Given the description of an element on the screen output the (x, y) to click on. 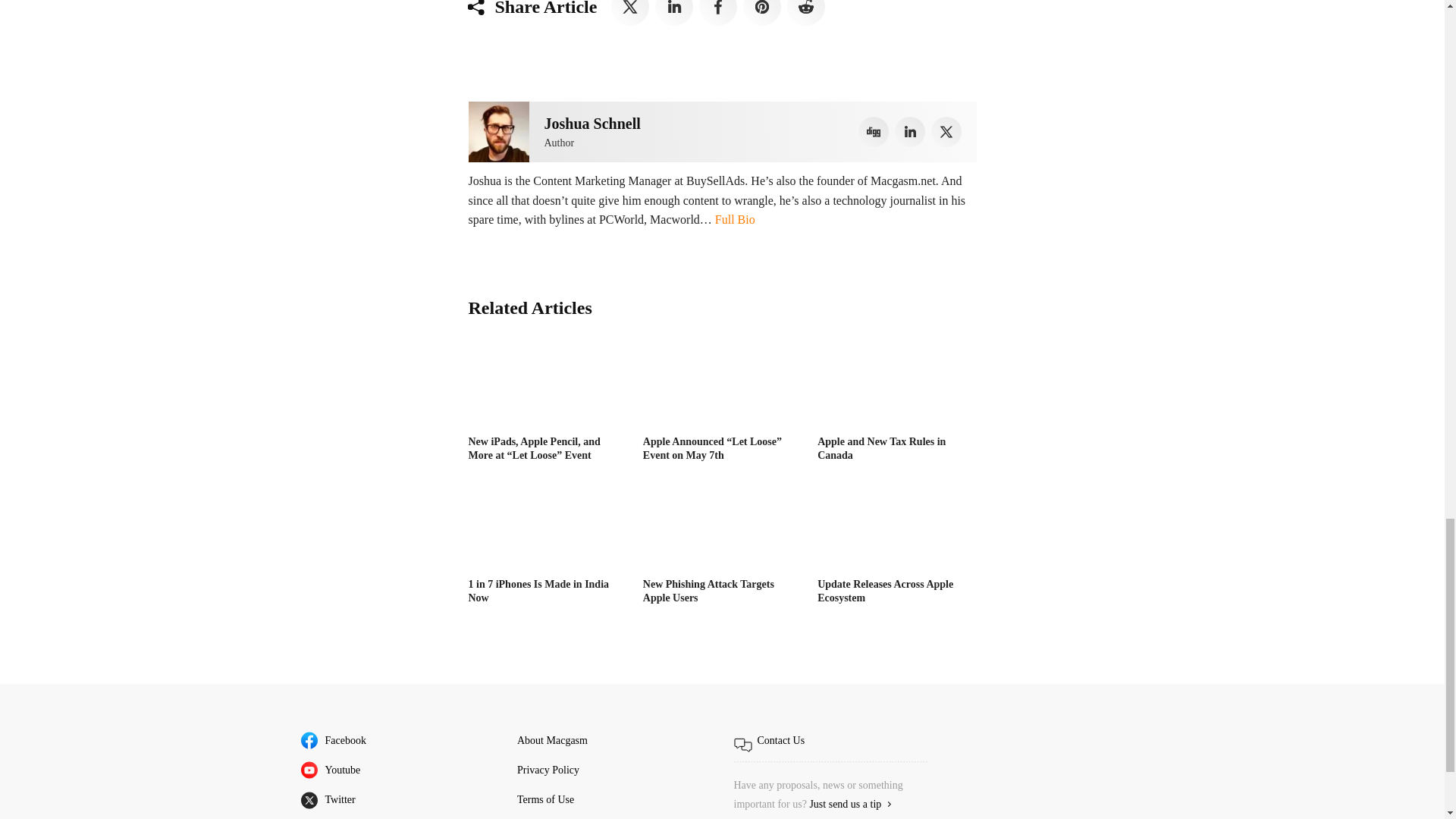
Full Bio (734, 219)
Digg (873, 132)
Twitter (630, 12)
Joshua Schnell (592, 123)
Joshua Schnell (498, 131)
ReddIt (806, 12)
Pinterest (761, 12)
Linkedin (909, 132)
Linkedin (674, 12)
Facebook (717, 12)
Twitter (945, 132)
